Given the description of an element on the screen output the (x, y) to click on. 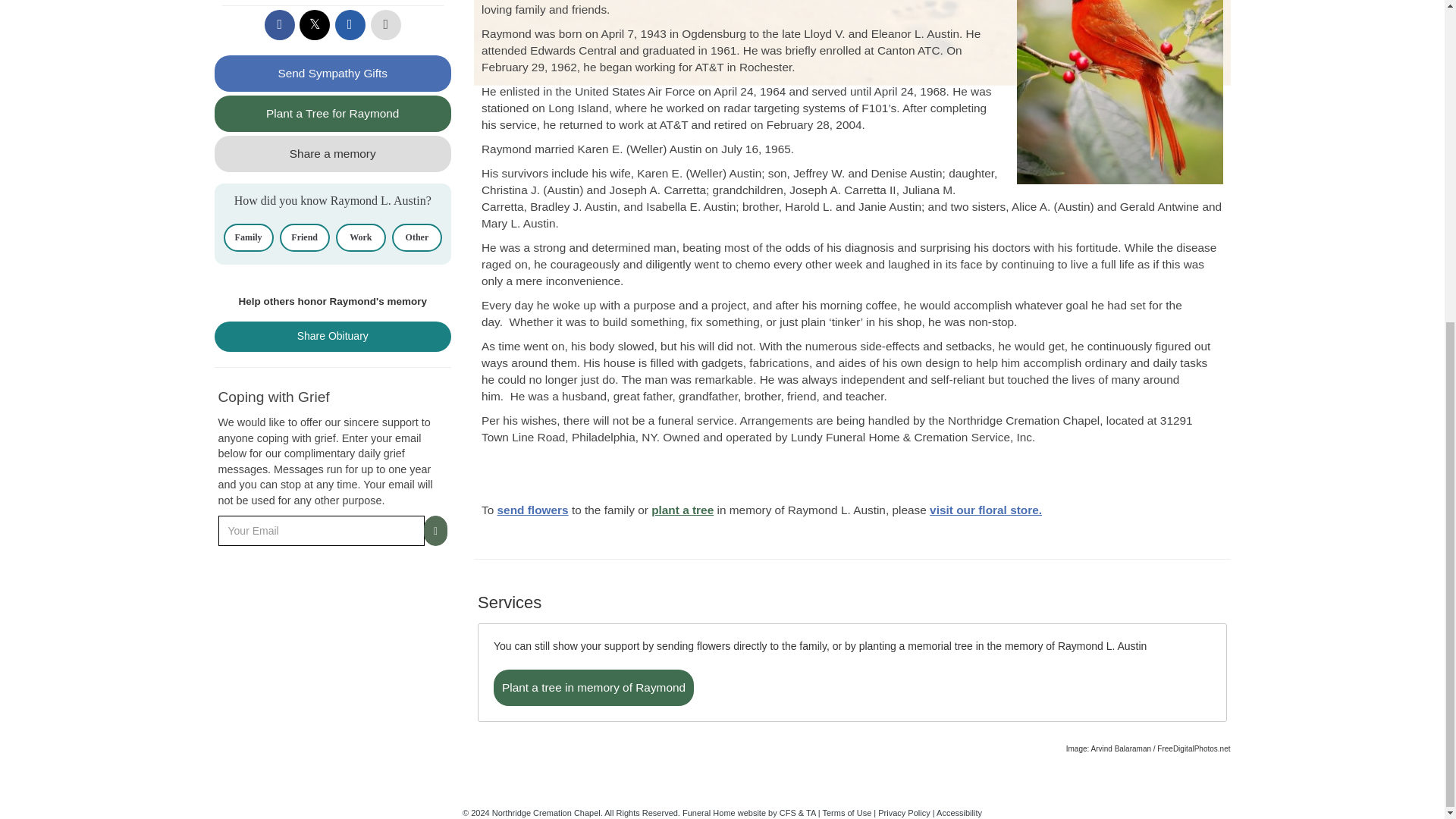
Share to Facebook (279, 24)
Share via email (349, 24)
Share a memory (332, 153)
Plant a tree in memory of Raymond (593, 687)
Plant a Tree for Raymond (332, 113)
plant a tree (681, 509)
Privacy Policy (903, 812)
Send Sympathy Gifts (332, 73)
TA (810, 812)
Printable copy (386, 24)
Share on X (314, 24)
Accessibility (958, 812)
visit our floral store. (986, 509)
CFS (787, 812)
send flowers (533, 509)
